Given the description of an element on the screen output the (x, y) to click on. 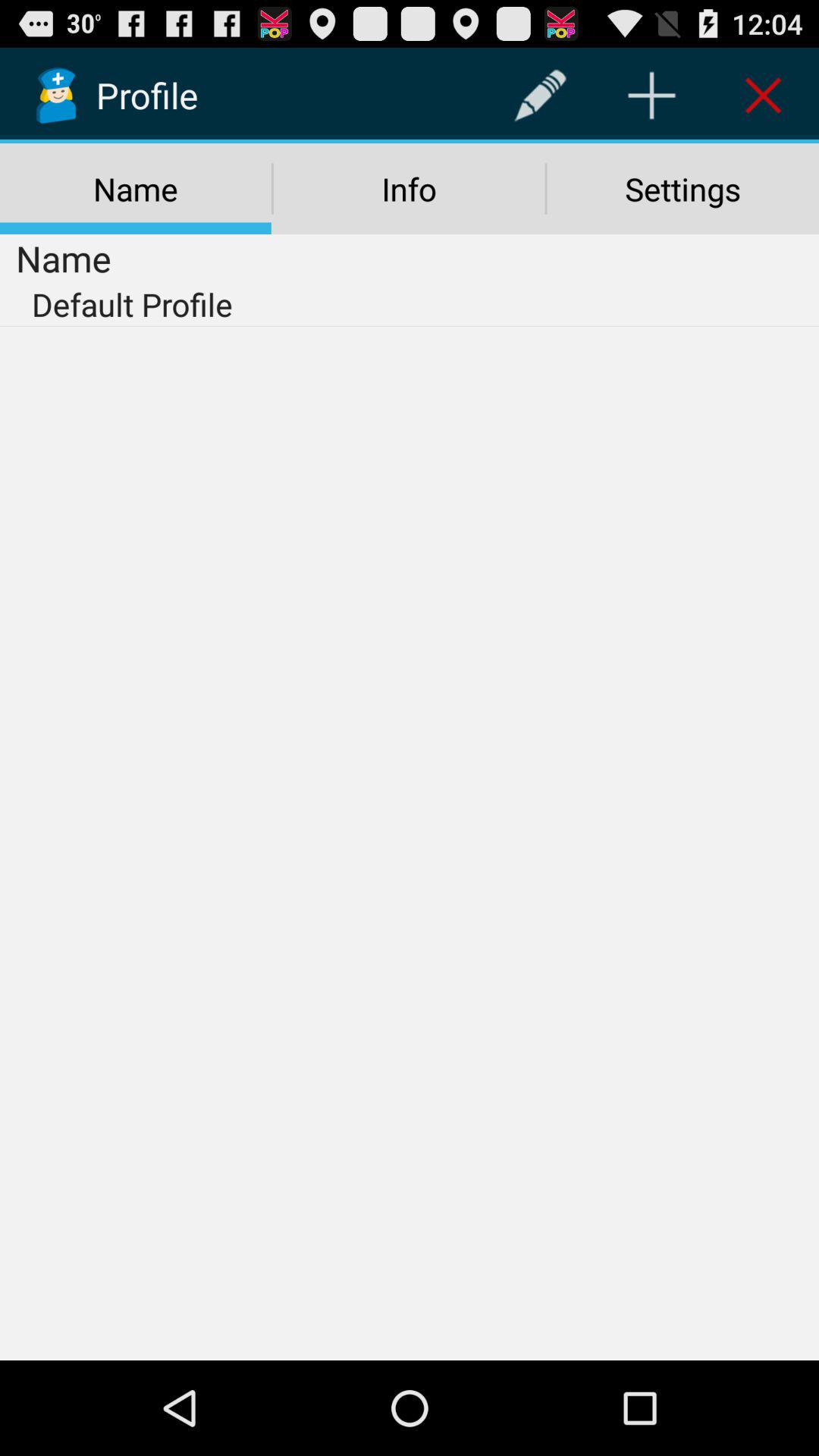
open the icon next to info icon (683, 188)
